Given the description of an element on the screen output the (x, y) to click on. 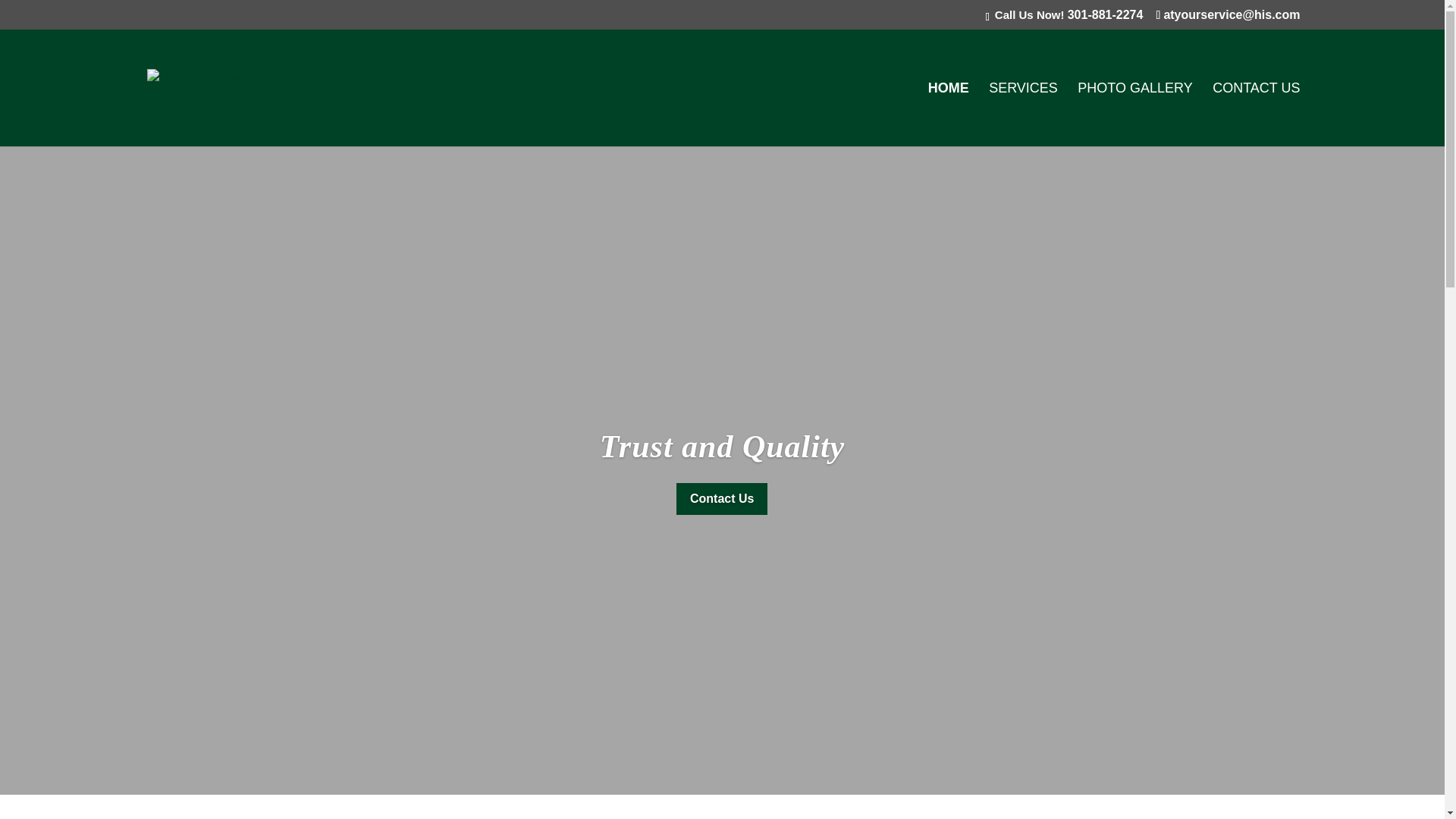
301-881-2274 (1104, 14)
CONTACT US (1256, 113)
PHOTO GALLERY (1134, 113)
SERVICES (1023, 113)
